Given the description of an element on the screen output the (x, y) to click on. 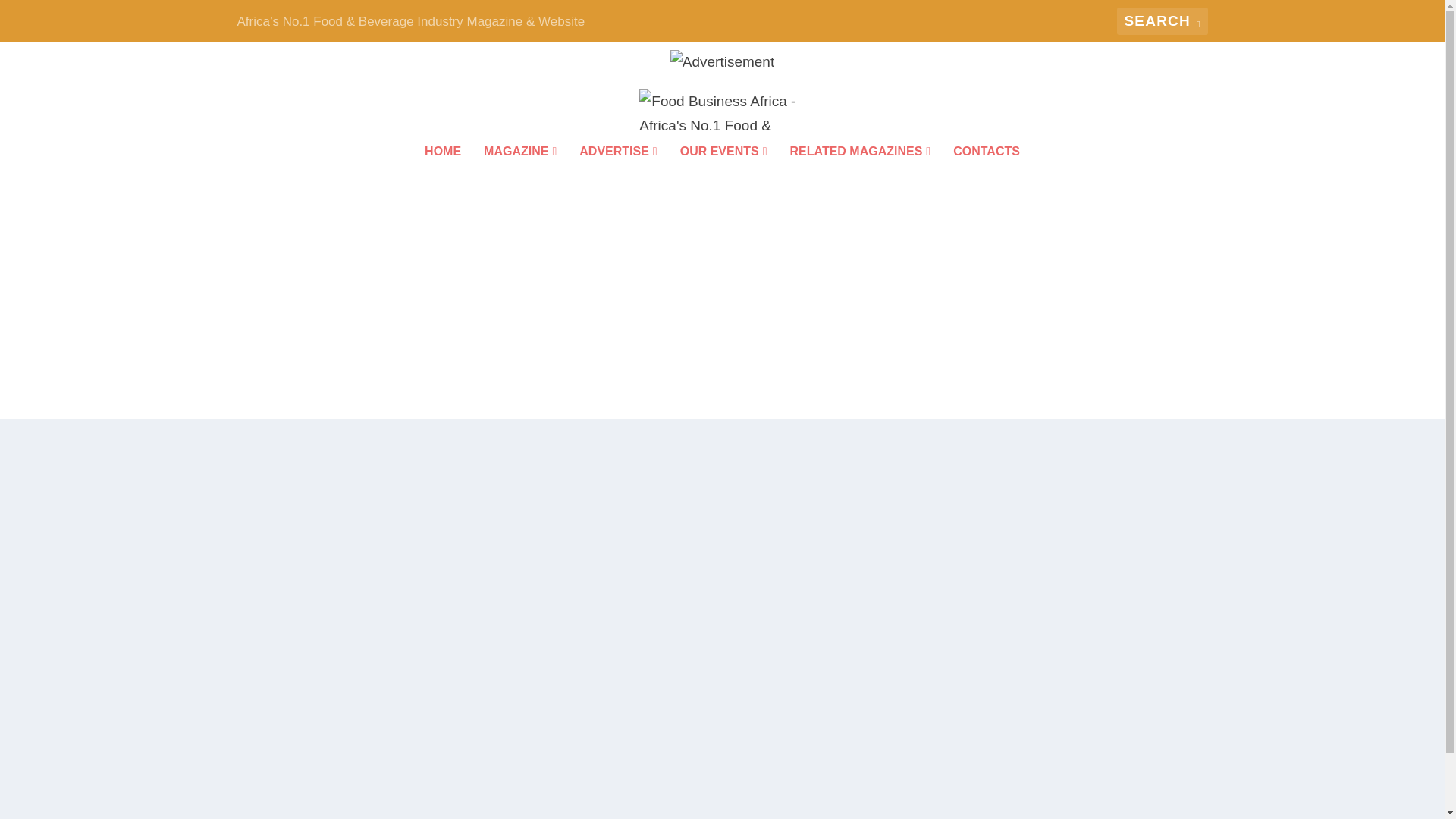
HOME (443, 172)
OUR EVENTS (723, 172)
MAGAZINE (519, 172)
ADVERTISE (617, 172)
RELATED MAGAZINES (860, 172)
CONTACTS (986, 172)
Search for: (1161, 21)
